Given the description of an element on the screen output the (x, y) to click on. 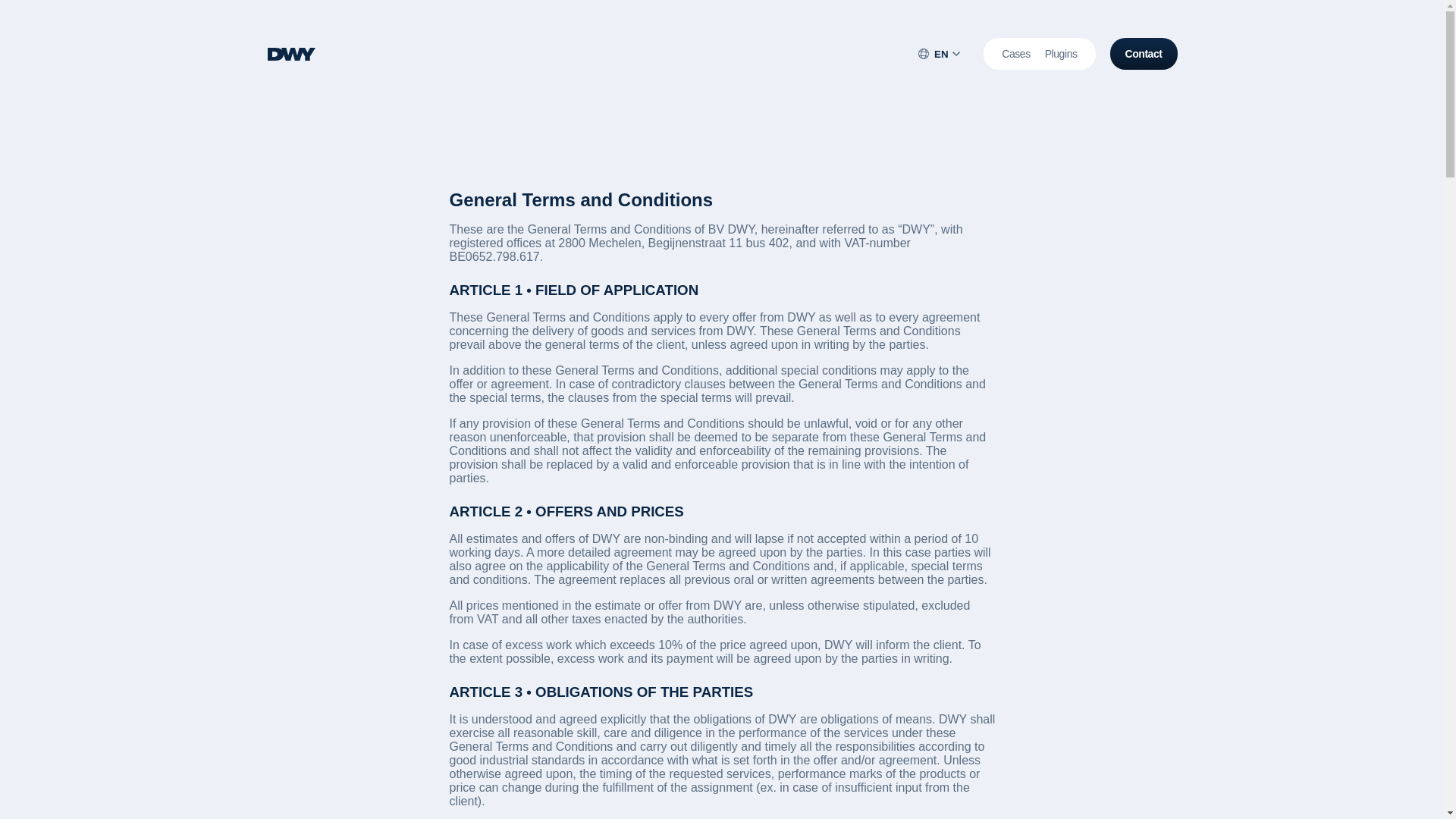
Plugins (1061, 53)
Contact (1143, 53)
EN (938, 53)
